Given the description of an element on the screen output the (x, y) to click on. 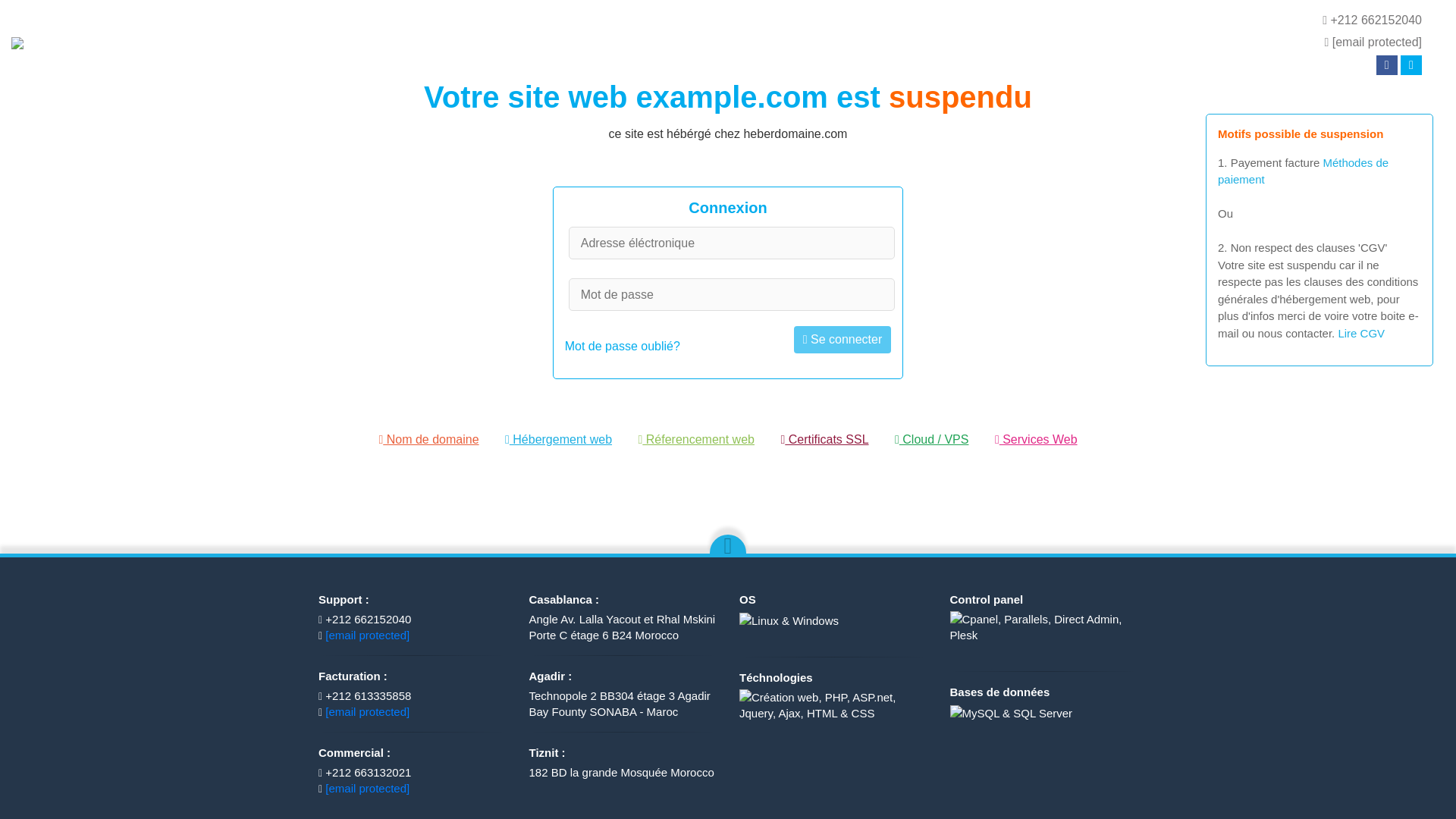
Services Web (1035, 439)
Certificats SSL (824, 439)
Nom de domaine (428, 439)
Lire CGV (1361, 332)
Se connecter (842, 338)
